Given the description of an element on the screen output the (x, y) to click on. 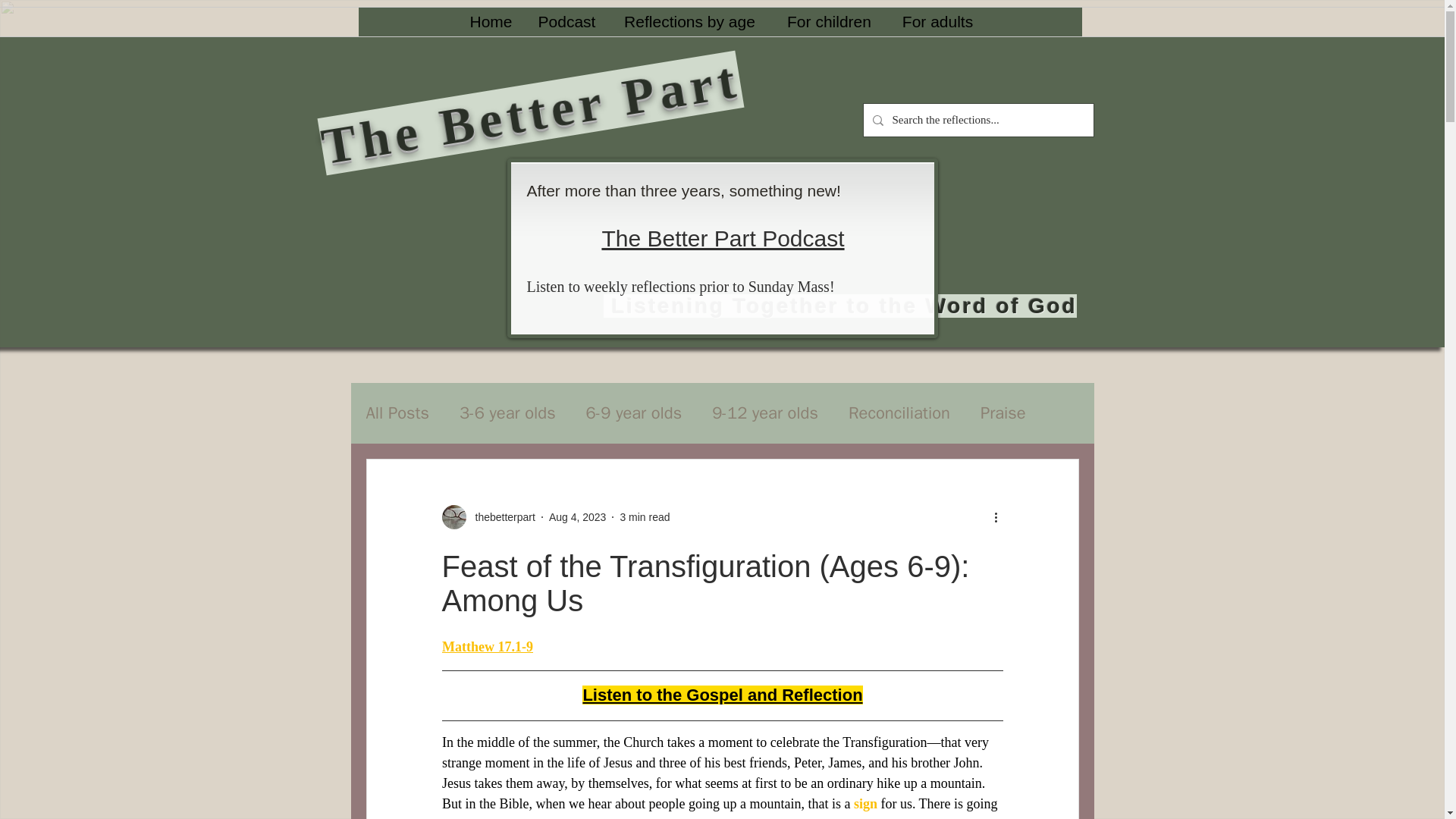
3 min read (644, 517)
Aug 4, 2023 (577, 517)
 Listening Together to the Word of God (840, 305)
thebetterpart (487, 517)
Praise (1002, 413)
Reconciliation (899, 413)
Podcast (566, 21)
For children (828, 21)
9-12 year olds (764, 413)
3-6 year olds (508, 413)
Matthew 17.1-9 (486, 646)
thebetterpart (499, 517)
For adults (936, 21)
Home (490, 21)
The Better Part (528, 79)
